Given the description of an element on the screen output the (x, y) to click on. 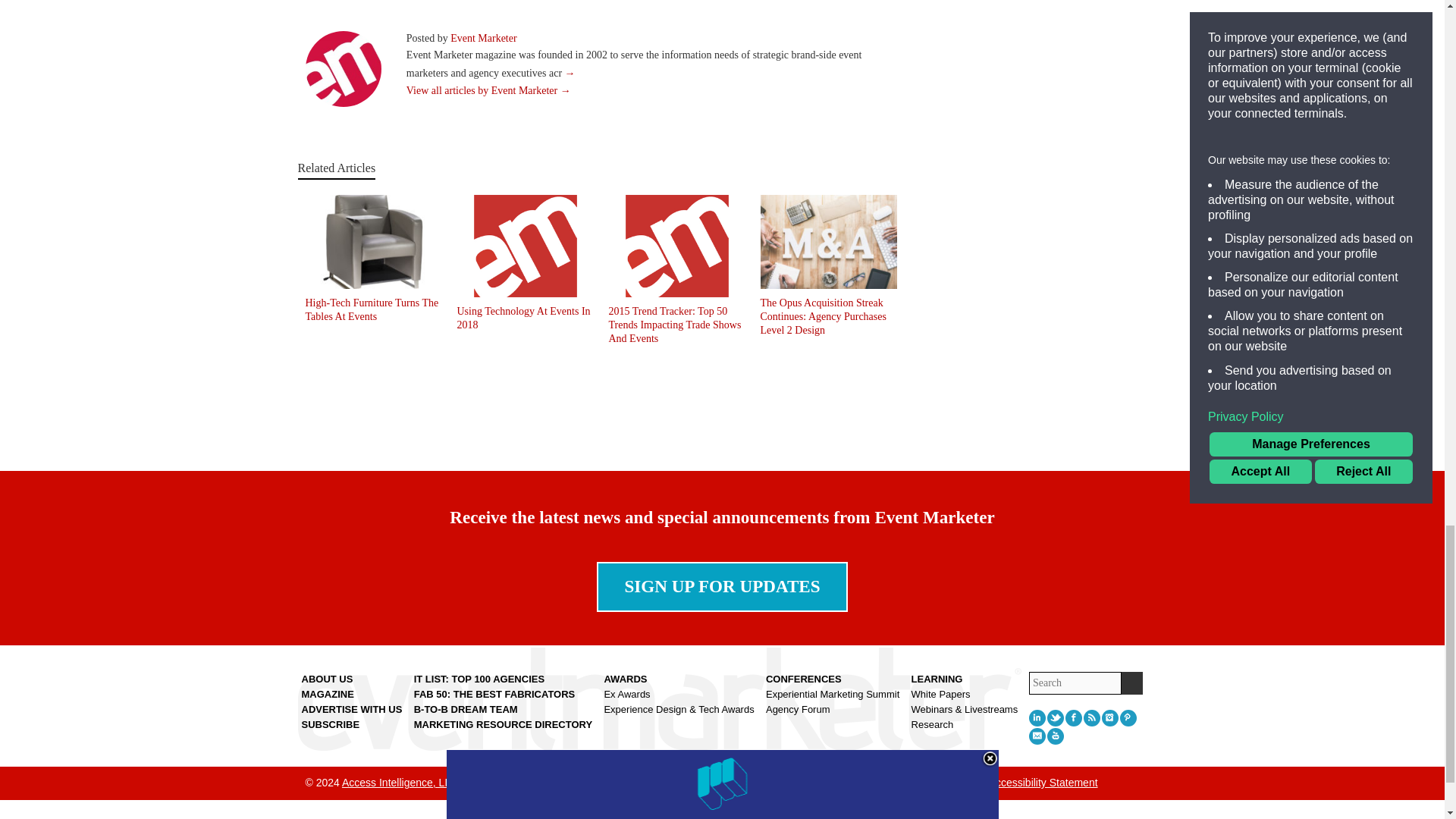
Permanent Link to Using Technology at Events in 2018 (523, 317)
